Given the description of an element on the screen output the (x, y) to click on. 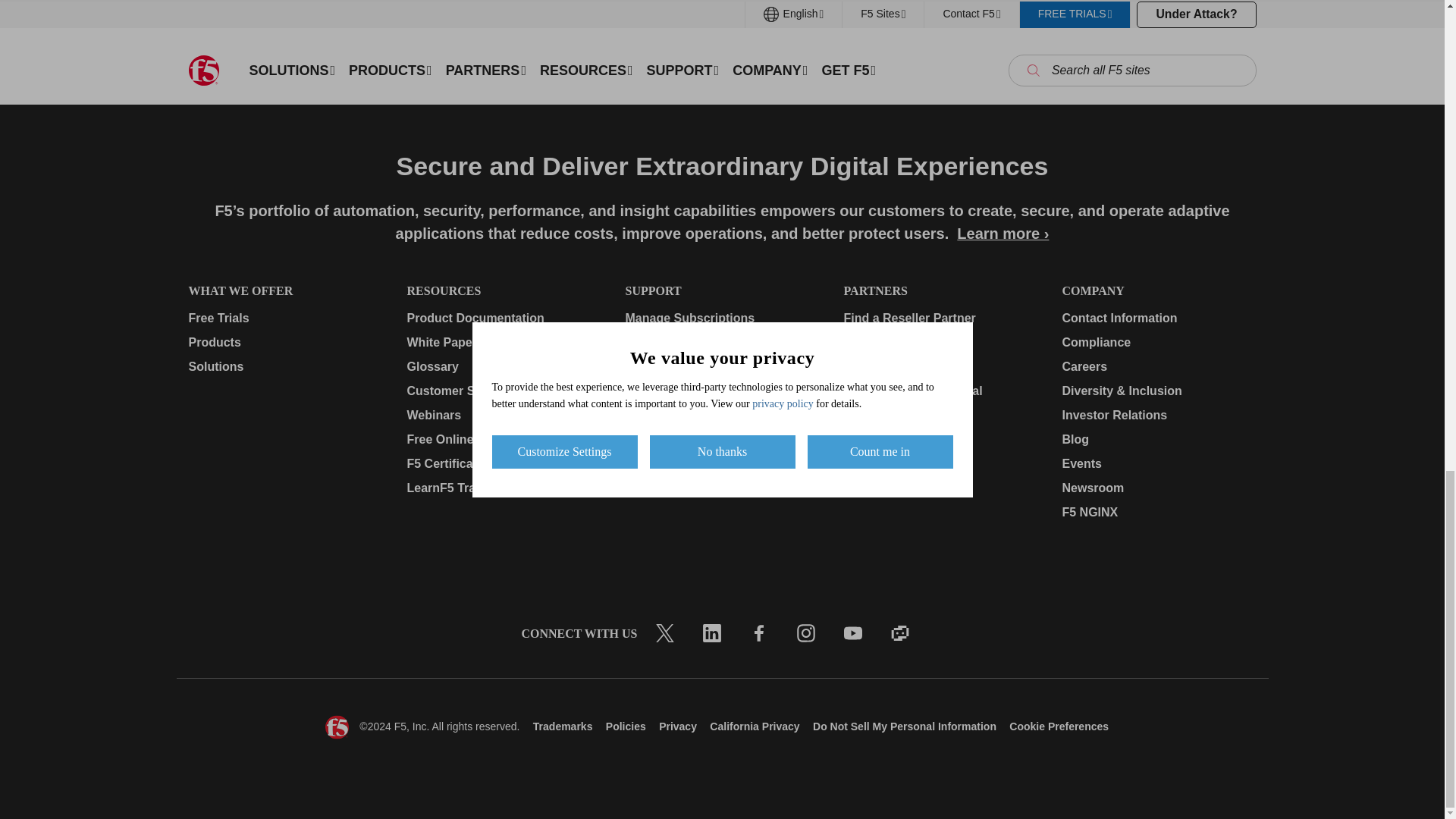
Free Trials (284, 318)
Solutions (284, 366)
Customer Stories (502, 391)
Free Online Courses (502, 439)
Products (284, 342)
Webinars (502, 415)
Product Documentation (502, 318)
White Papers (502, 342)
Support Portal (721, 342)
LearnF5 Training (502, 488)
Glossary (502, 366)
Manage Subscriptions (721, 318)
F5 Certification (502, 464)
